Given the description of an element on the screen output the (x, y) to click on. 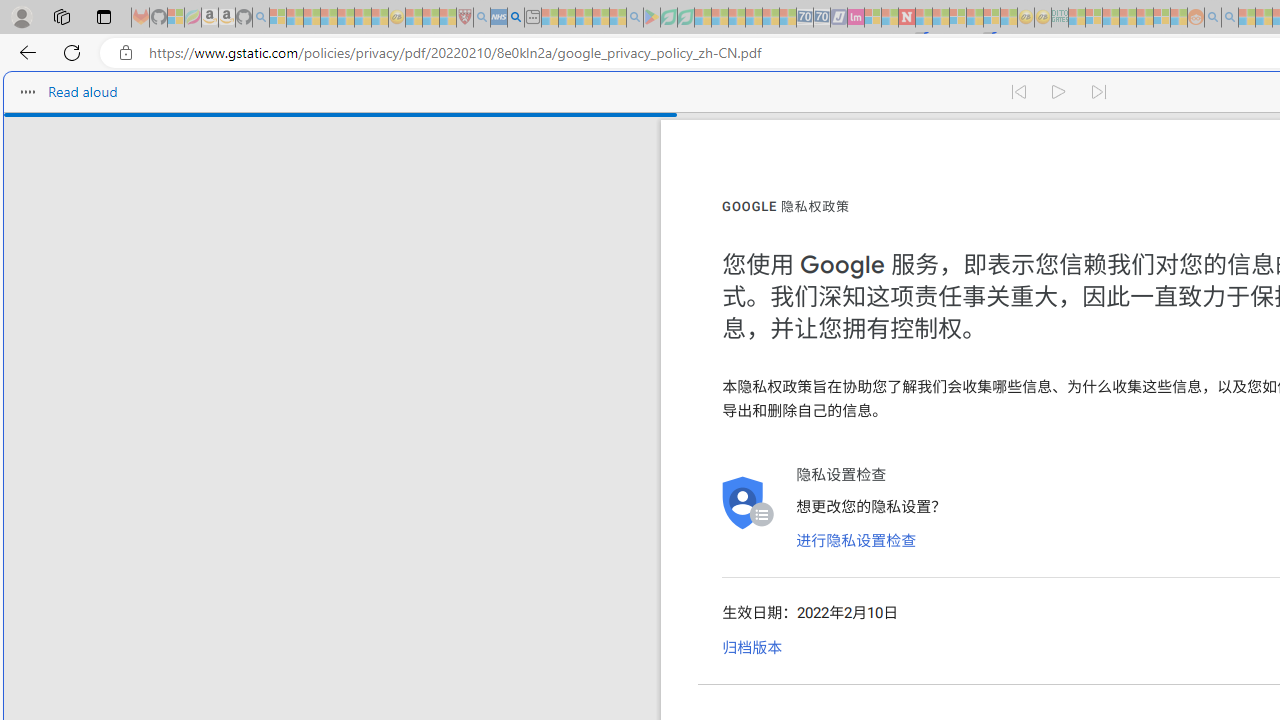
The Weather Channel - MSN - Sleeping (311, 17)
Jobs - lastminute.com Investor Portal - Sleeping (855, 17)
Pets - MSN - Sleeping (600, 17)
Recipes - MSN - Sleeping (413, 17)
Kinda Frugal - MSN - Sleeping (1144, 17)
Utah sues federal government - Search - Sleeping (1229, 17)
